Given the description of an element on the screen output the (x, y) to click on. 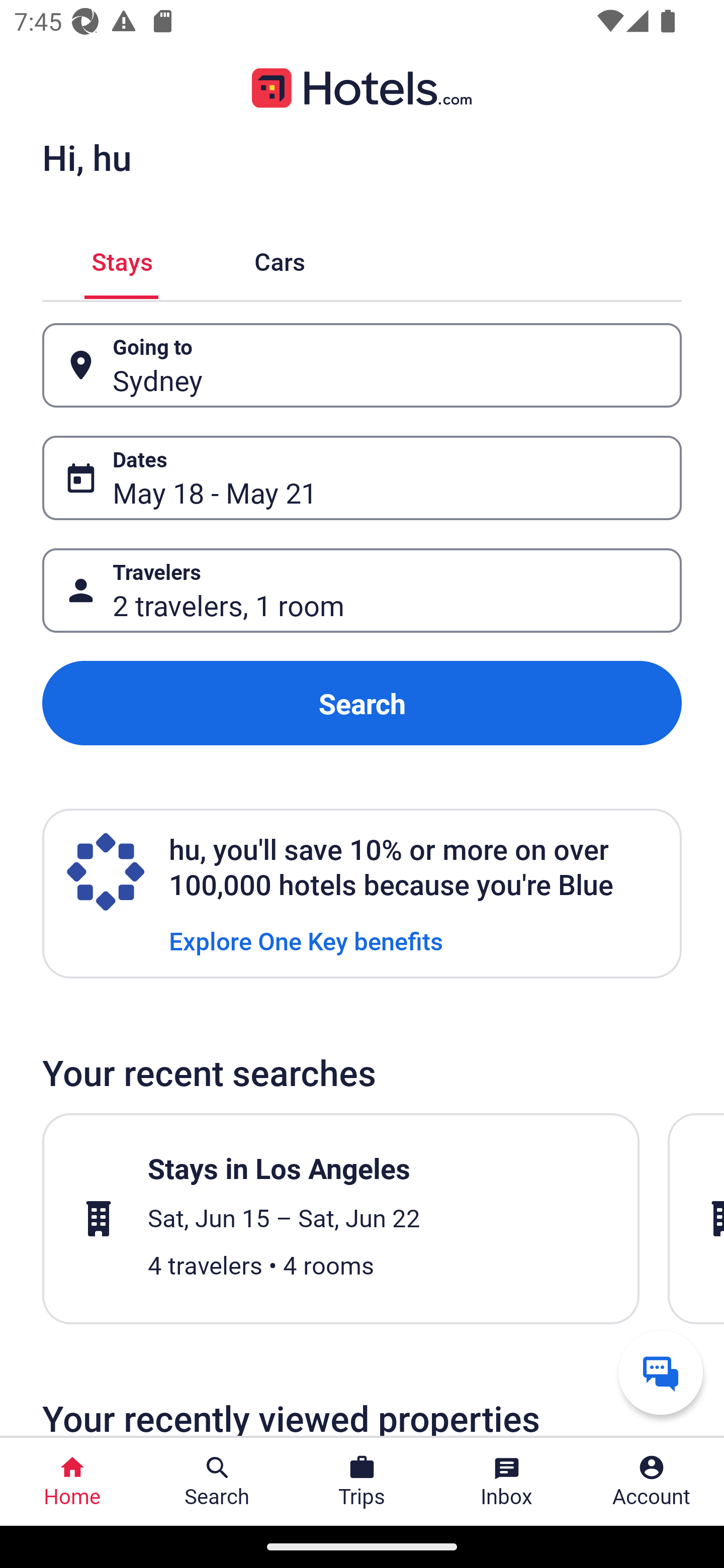
Hi, hu (86, 156)
Cars (279, 259)
Going to Button Sydney (361, 365)
Dates Button May 18 - May 21 (361, 477)
Travelers Button 2 travelers, 1 room (361, 590)
Search (361, 702)
Get help from a virtual agent (660, 1371)
Search Search Button (216, 1481)
Trips Trips Button (361, 1481)
Inbox Inbox Button (506, 1481)
Account Profile. Button (651, 1481)
